Given the description of an element on the screen output the (x, y) to click on. 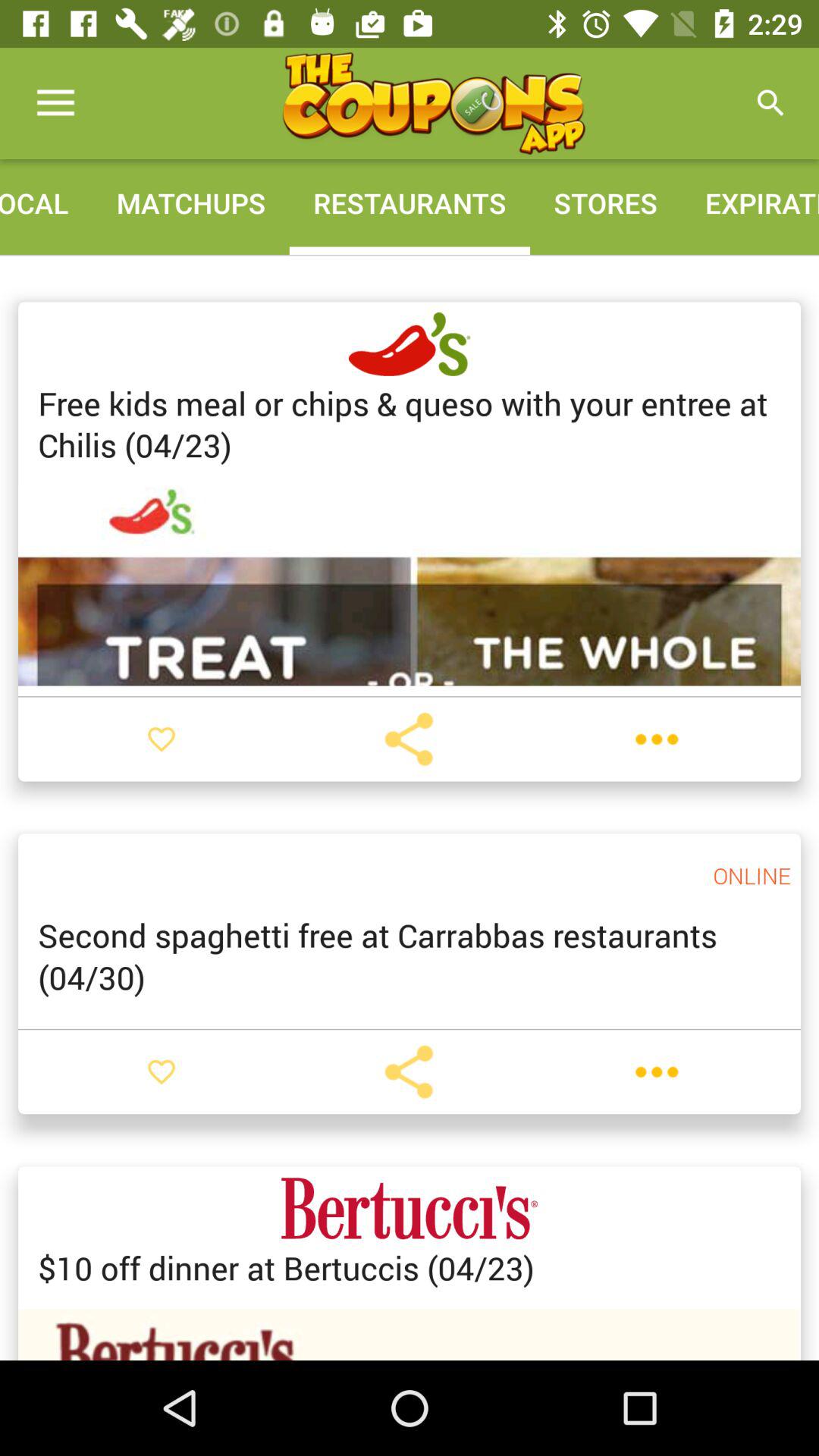
more information kebab menu (656, 1071)
